Given the description of an element on the screen output the (x, y) to click on. 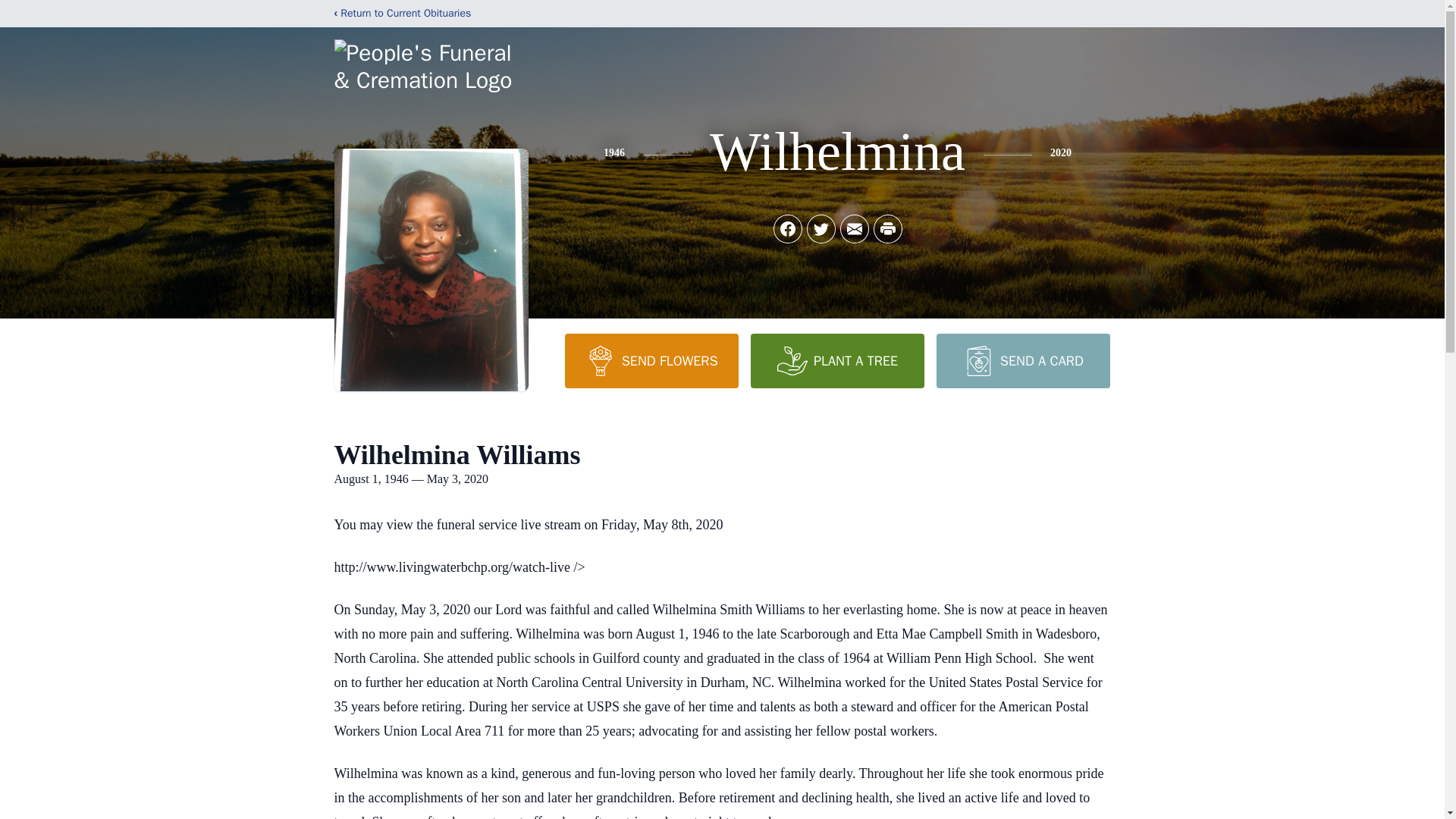
PLANT A TREE (837, 360)
SEND A CARD (1022, 360)
SEND FLOWERS (651, 360)
